Given the description of an element on the screen output the (x, y) to click on. 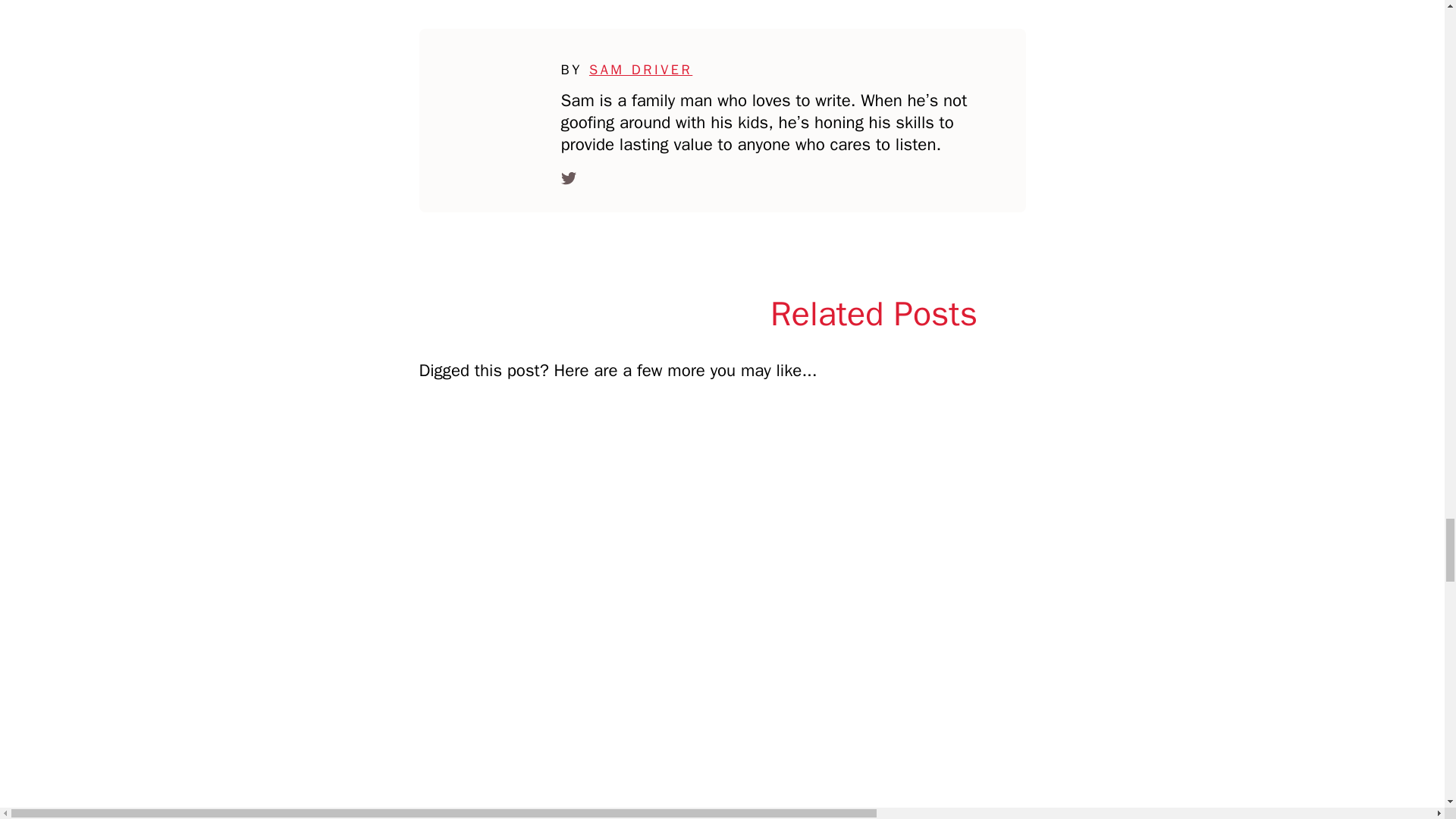
SAM DRIVER (641, 69)
